Given the description of an element on the screen output the (x, y) to click on. 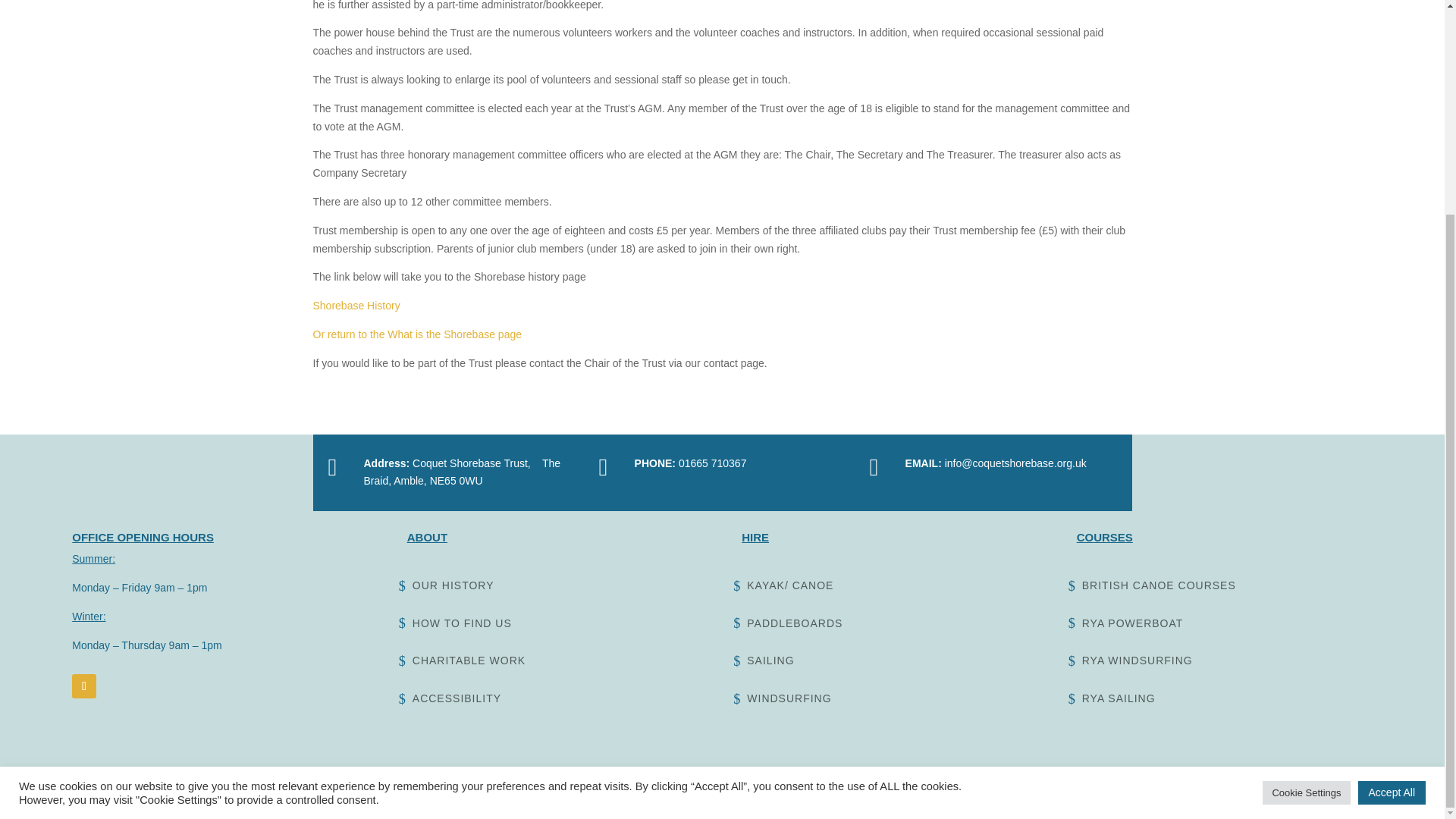
Follow on Facebook (83, 686)
